Given the description of an element on the screen output the (x, y) to click on. 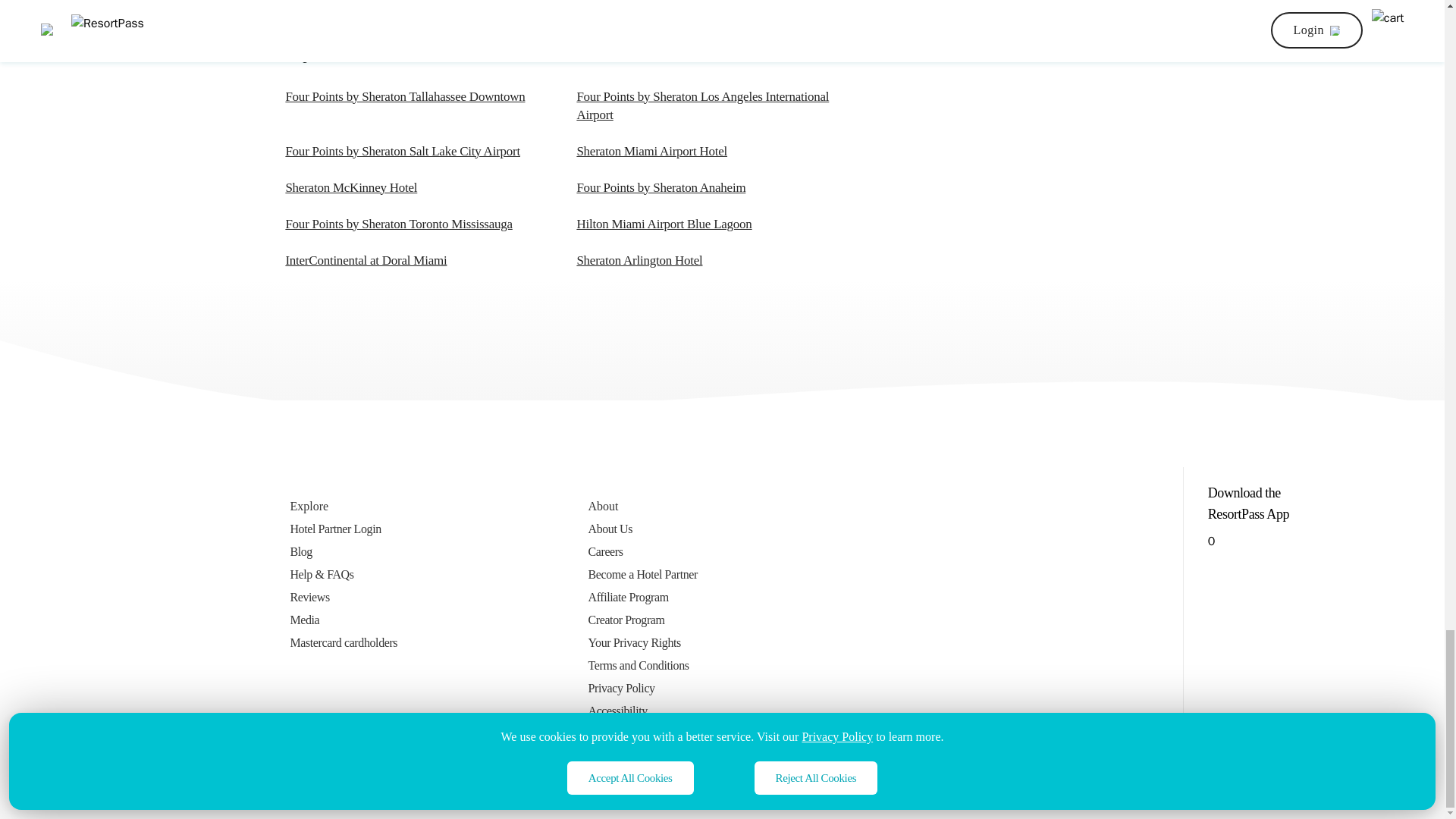
Visit Four Points by Sheraton Salt Lake City Airport (402, 151)
Four Points by Sheraton Toronto Mississauga (398, 223)
Sheraton McKinney Hotel (350, 187)
Visit Sheraton Arlington Hotel (638, 260)
Sheraton Arlington Hotel (638, 260)
Visit Sheraton McKinney Hotel (350, 187)
Visit Four Points by Sheraton Tallahassee Downtown (404, 96)
Visit Sheraton Miami Airport Hotel (651, 151)
Hotel Partner Login (343, 529)
Login to the Hotel Partner Portal (343, 529)
